Given the description of an element on the screen output the (x, y) to click on. 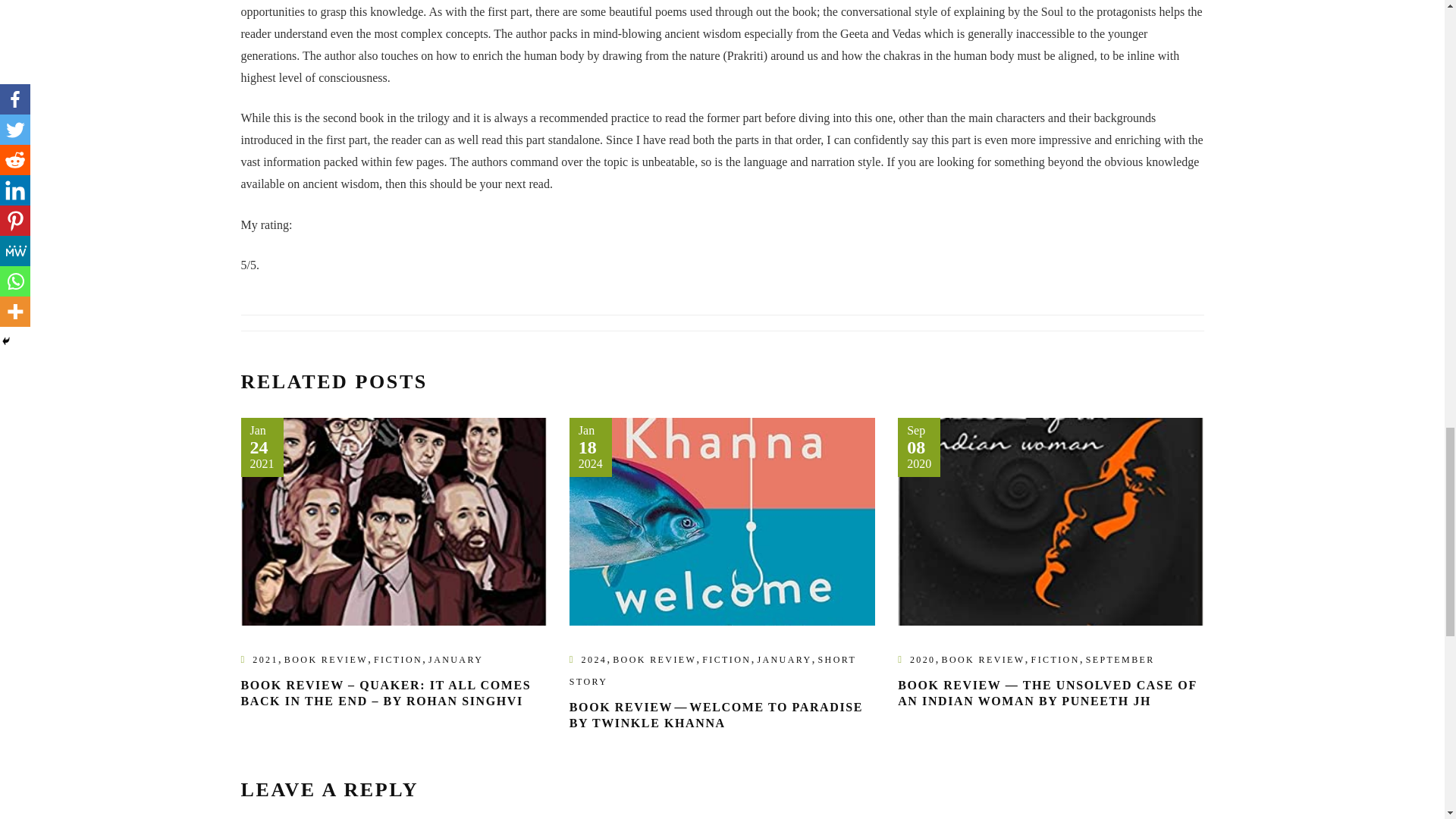
2021 (264, 659)
BOOK REVIEW (653, 659)
JANUARY (455, 659)
FICTION (726, 659)
BOOK REVIEW (325, 659)
2024 (593, 659)
JANUARY (783, 659)
FICTION (398, 659)
